Given the description of an element on the screen output the (x, y) to click on. 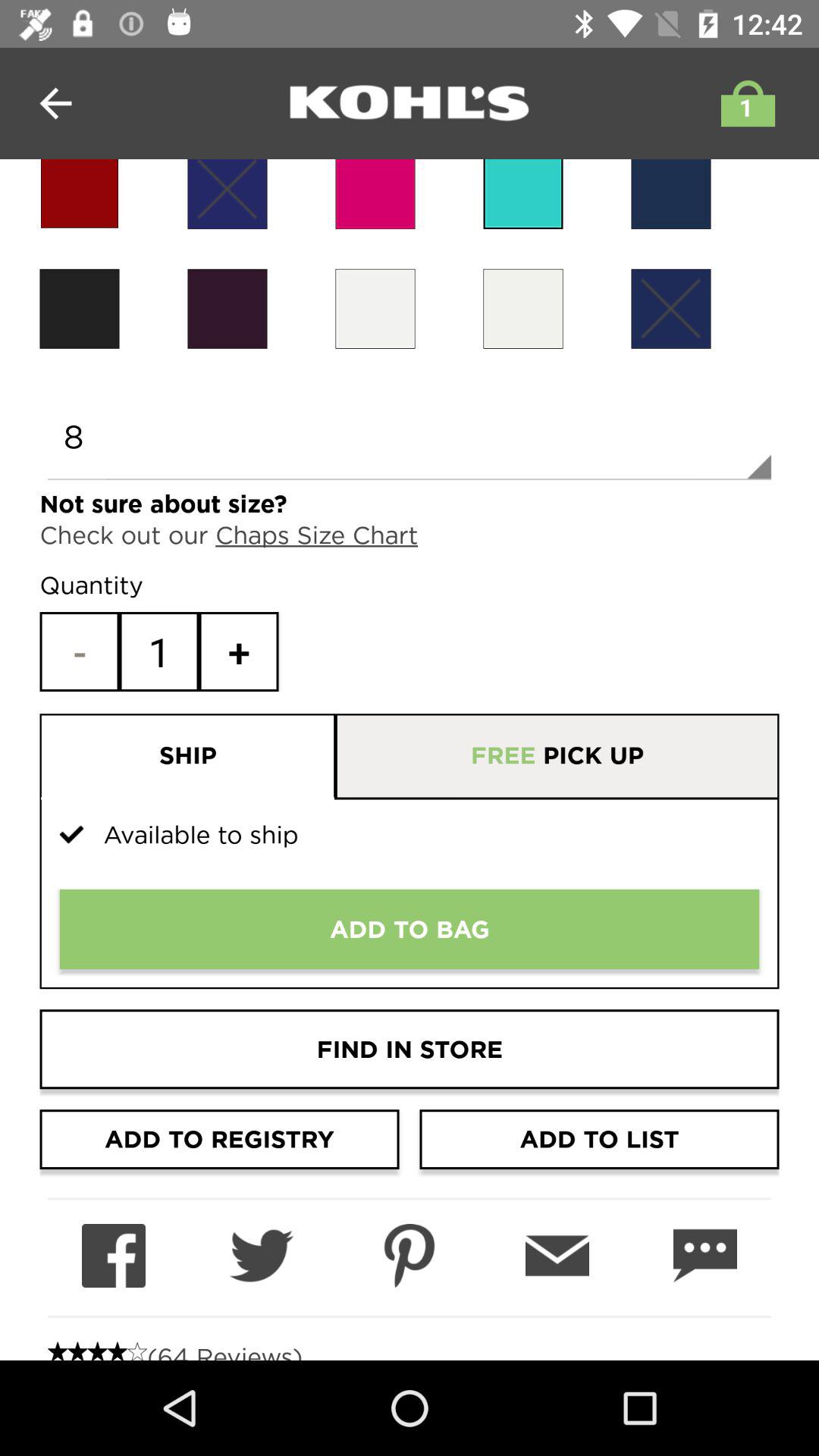
select black color for item (227, 308)
